Given the description of an element on the screen output the (x, y) to click on. 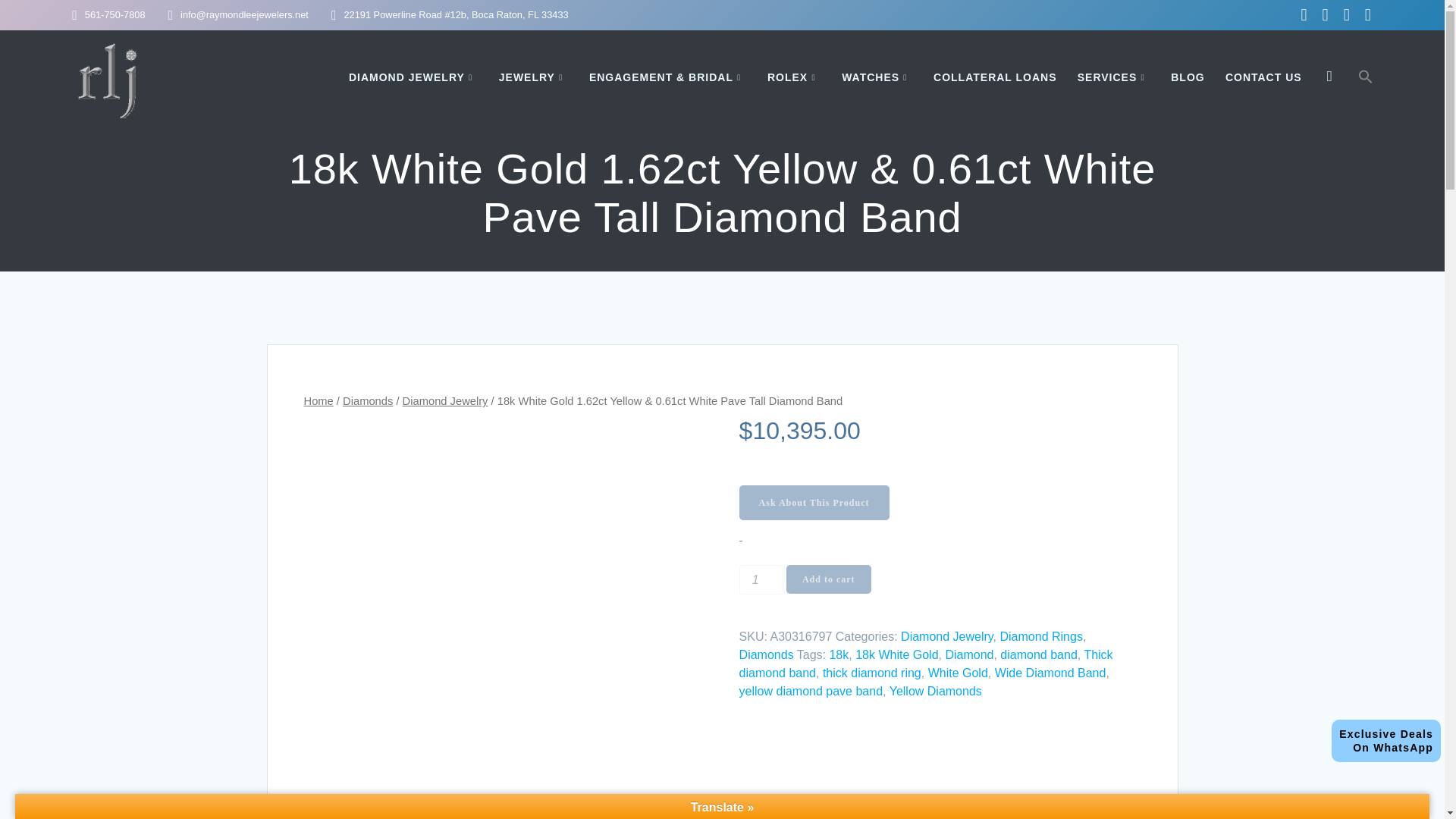
JEWELRY (1386, 740)
DIAMOND JEWELRY (534, 77)
1 (414, 77)
